Given the description of an element on the screen output the (x, y) to click on. 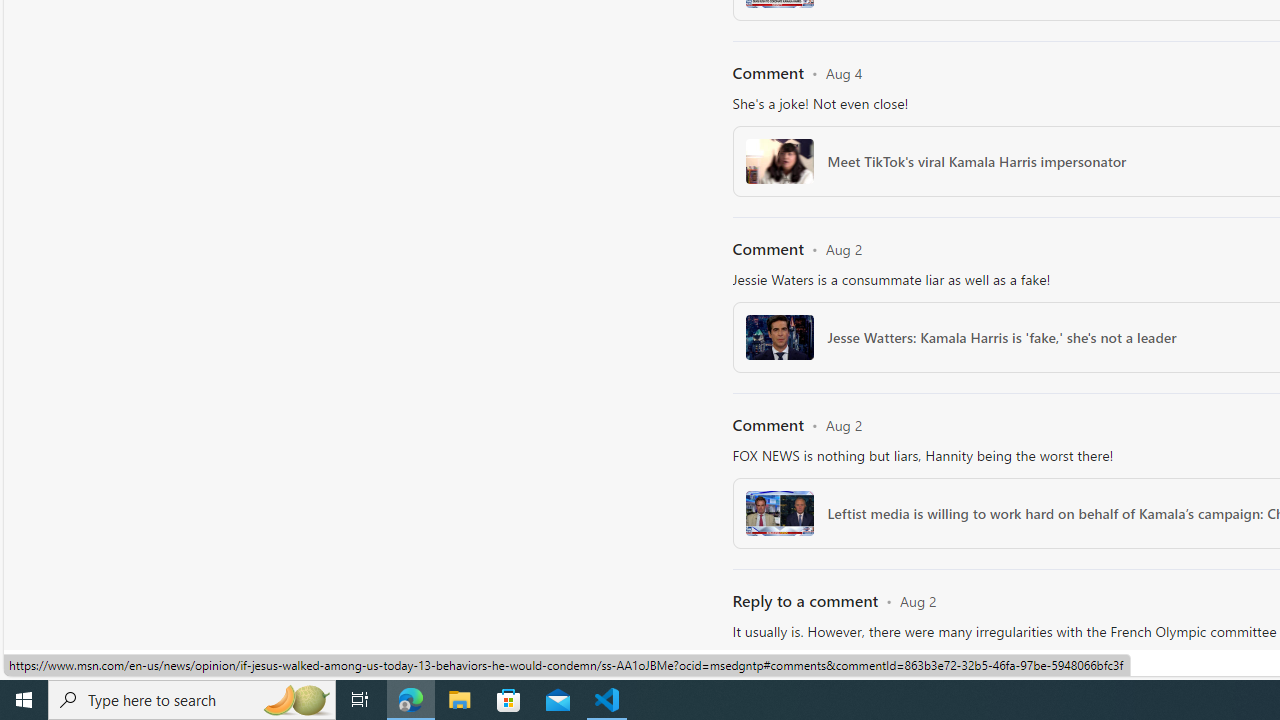
Content thumbnail (779, 689)
